Given the description of an element on the screen output the (x, y) to click on. 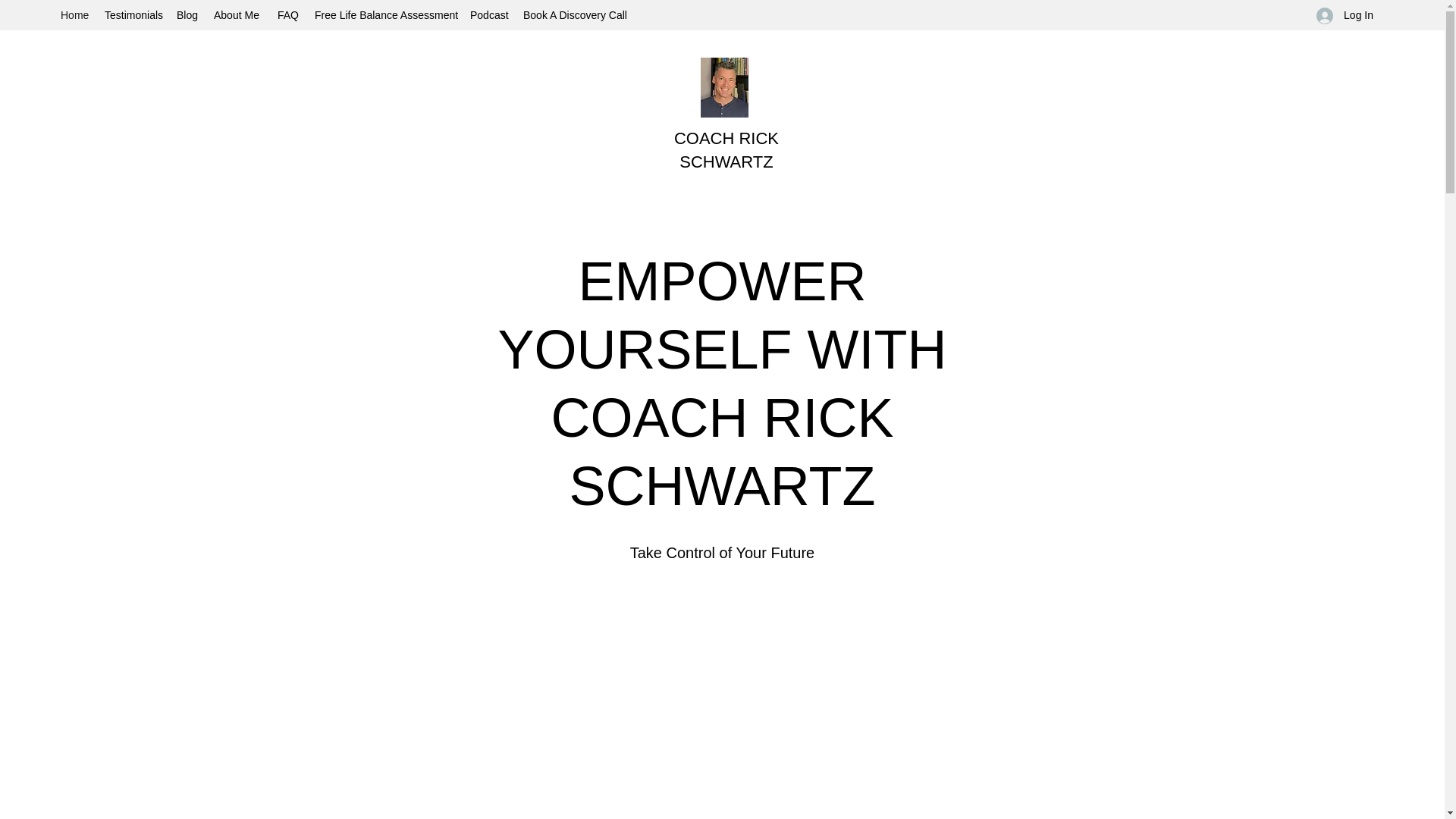
FAQ (288, 15)
Blog (187, 15)
About Me (237, 15)
Log In (1345, 15)
Testimonials (132, 15)
Podcast (489, 15)
Home (74, 15)
Book A Discovery Call (574, 15)
Free Life Balance Assessment (385, 15)
COACH RICK SCHWARTZ (726, 149)
